Given the description of an element on the screen output the (x, y) to click on. 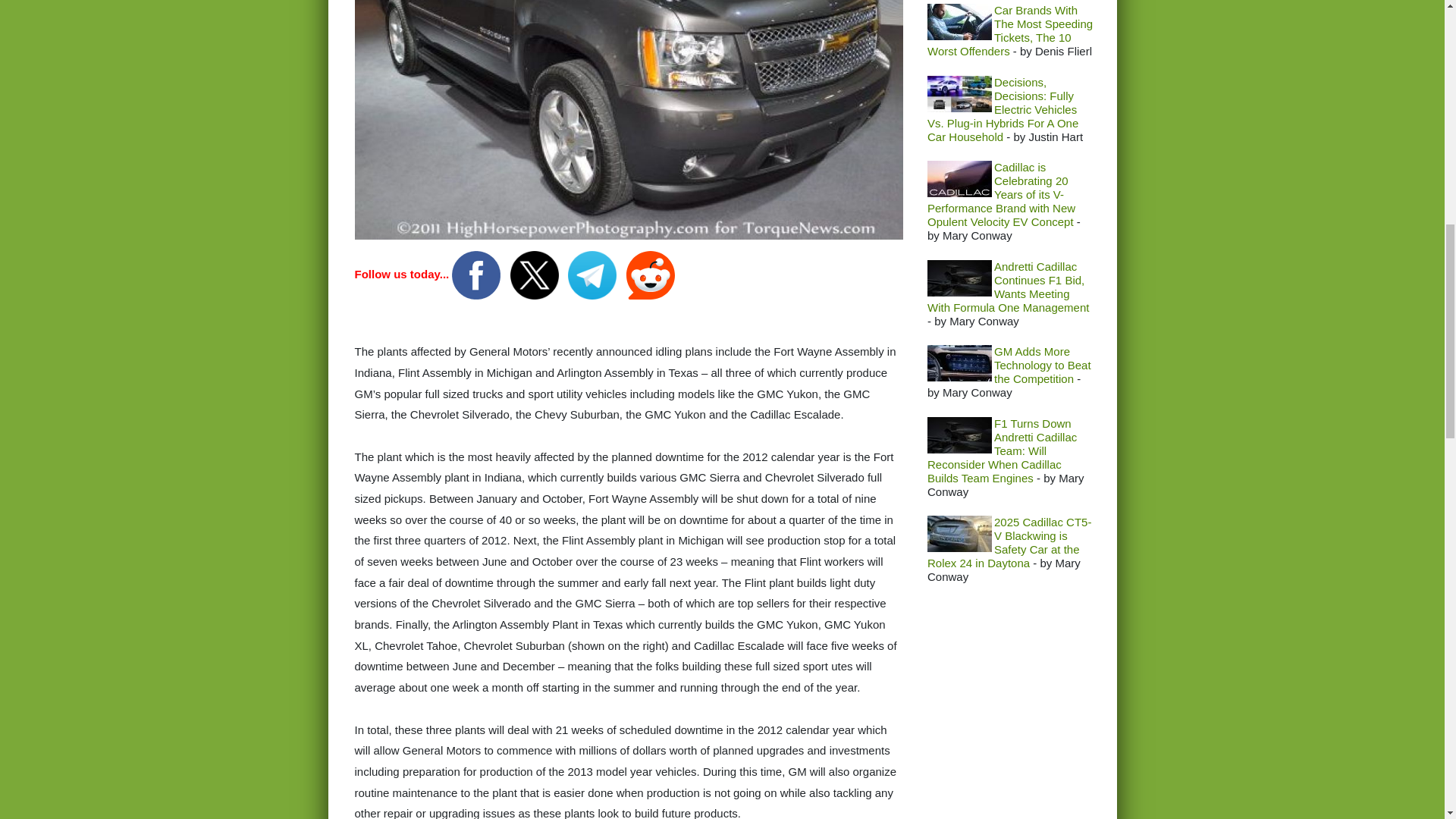
Join us on Telegram! (593, 273)
Join us on Reddit! (650, 273)
